Given the description of an element on the screen output the (x, y) to click on. 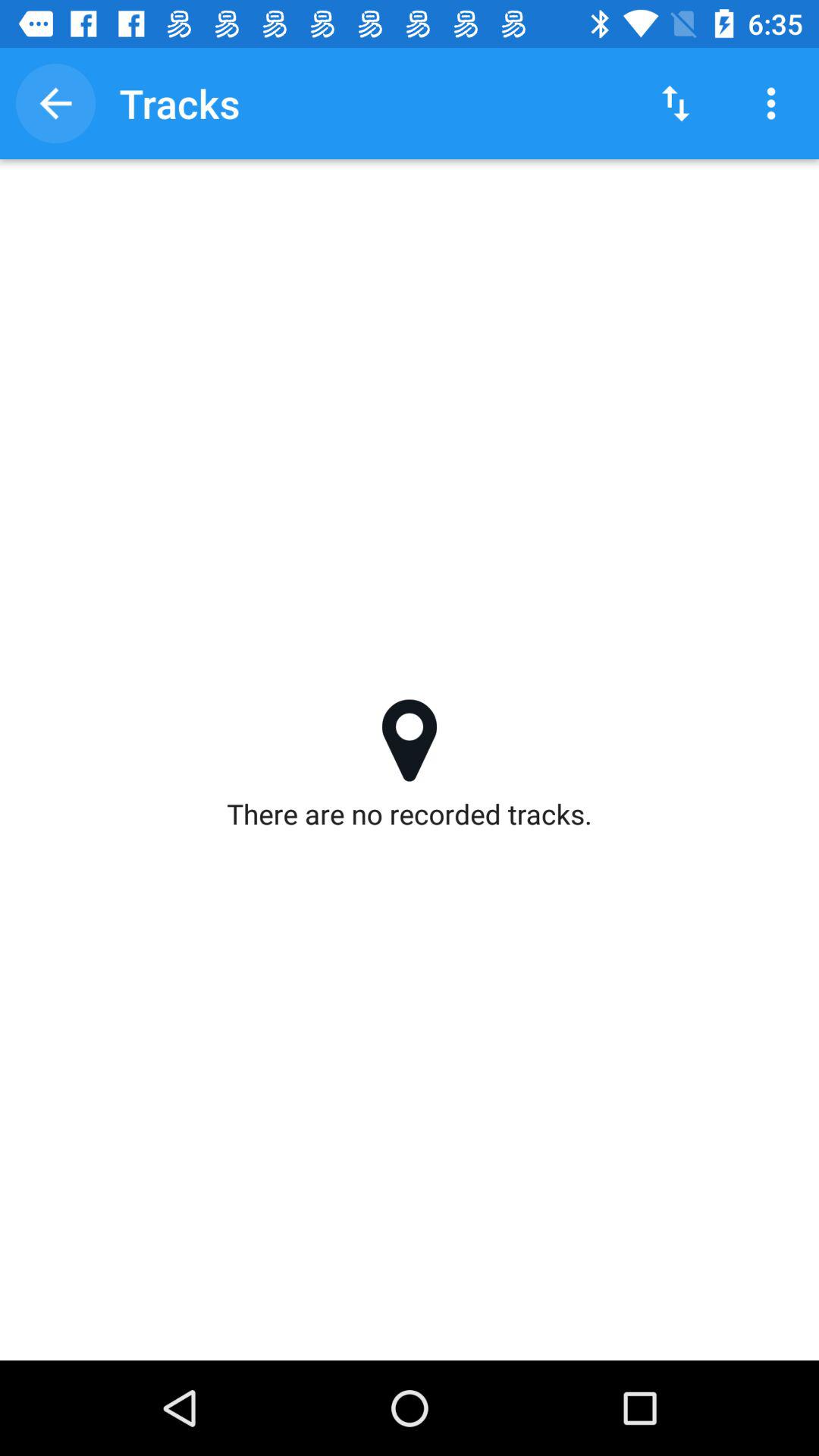
tap item next to tracks icon (55, 103)
